Given the description of an element on the screen output the (x, y) to click on. 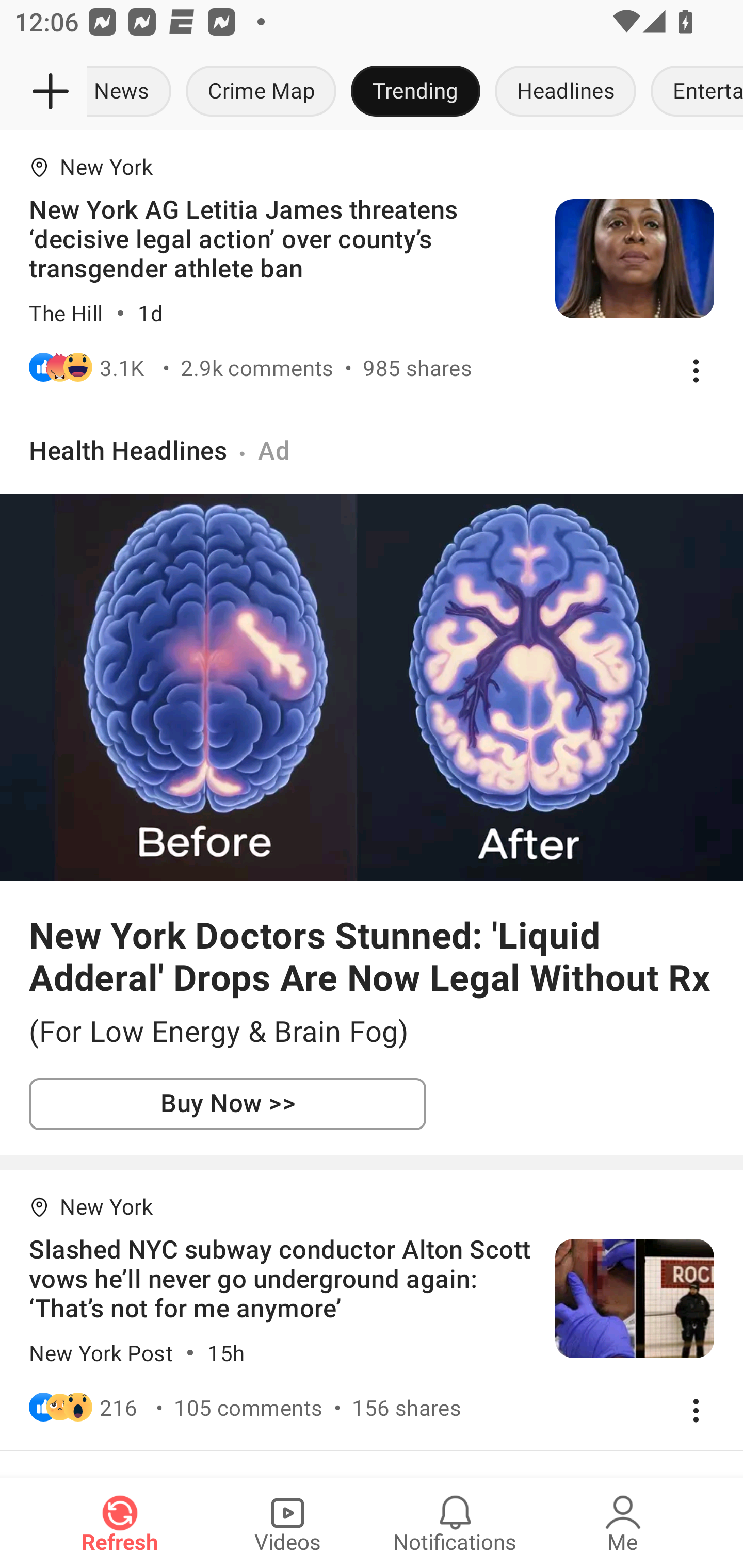
World News (132, 91)
Crime Map (260, 91)
Trending (415, 91)
Headlines (565, 91)
Entertainment (693, 91)
Health Headlines (127, 449)
(For Low Energy & Brain Fog) (371, 1031)
Buy Now >> (227, 1104)
Videos (287, 1522)
Notifications (455, 1522)
Me (622, 1522)
